Given the description of an element on the screen output the (x, y) to click on. 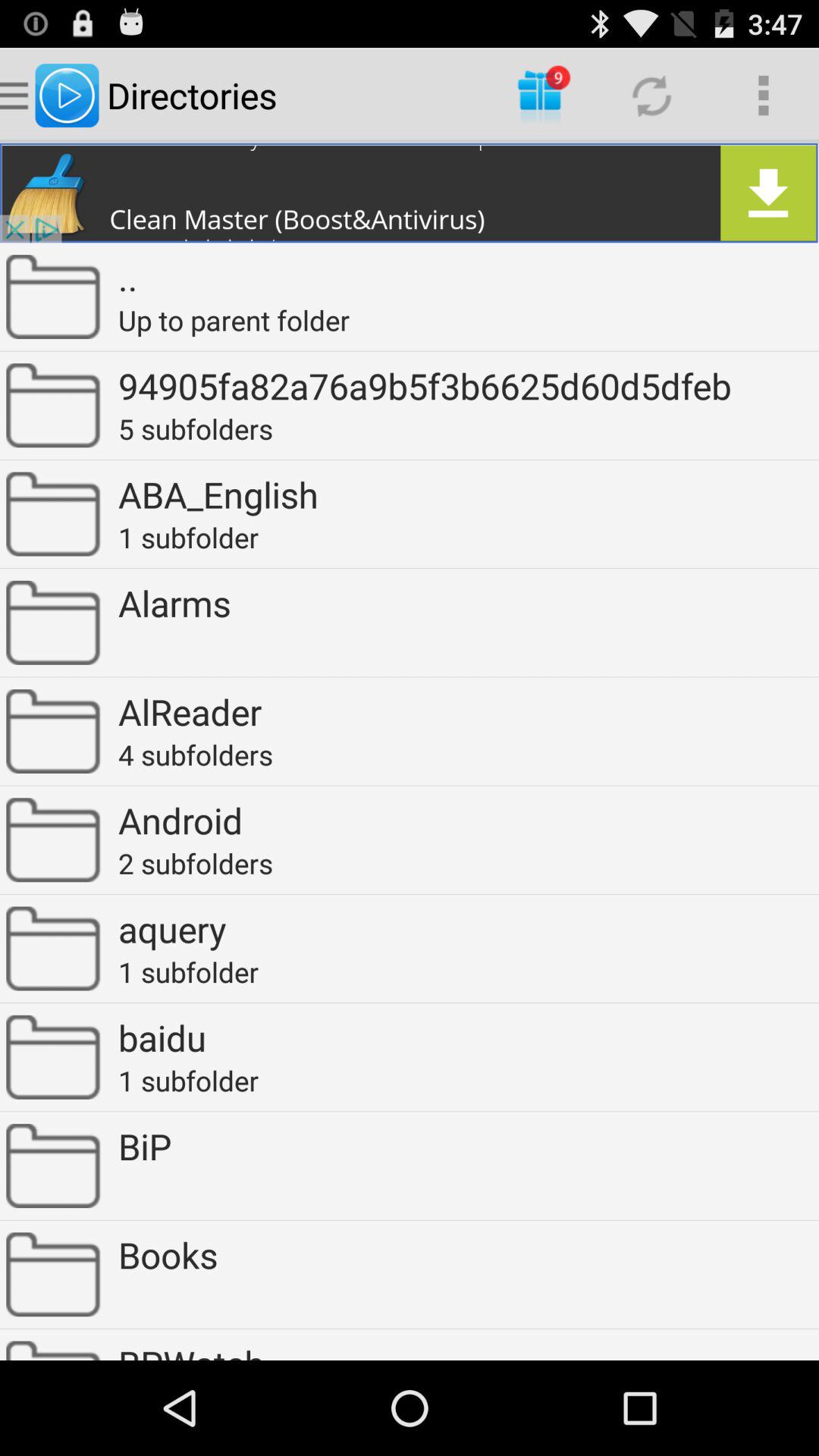
clear the anti virus (409, 192)
